Given the description of an element on the screen output the (x, y) to click on. 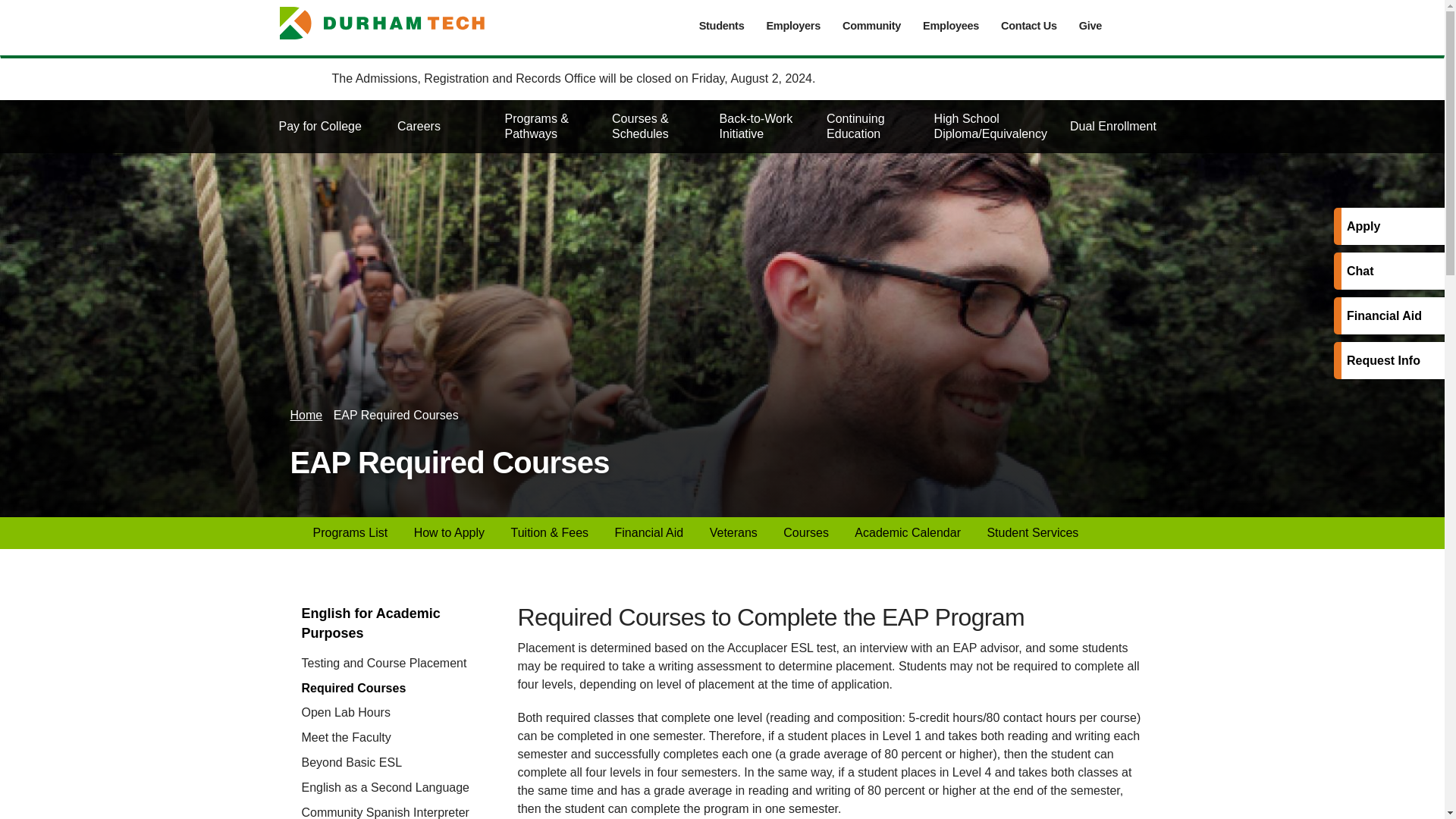
Dual Enrollment (1112, 126)
Back-to-Work Initiative (761, 126)
Link to Durham Tech homepage (392, 22)
Courses (805, 532)
Give (1089, 25)
Employers (793, 25)
Veterans (733, 532)
Programs List (349, 532)
Financial Aid (649, 532)
Careers (439, 126)
Pay for College (333, 126)
Community (871, 25)
Employees (951, 25)
Students (721, 25)
